Given the description of an element on the screen output the (x, y) to click on. 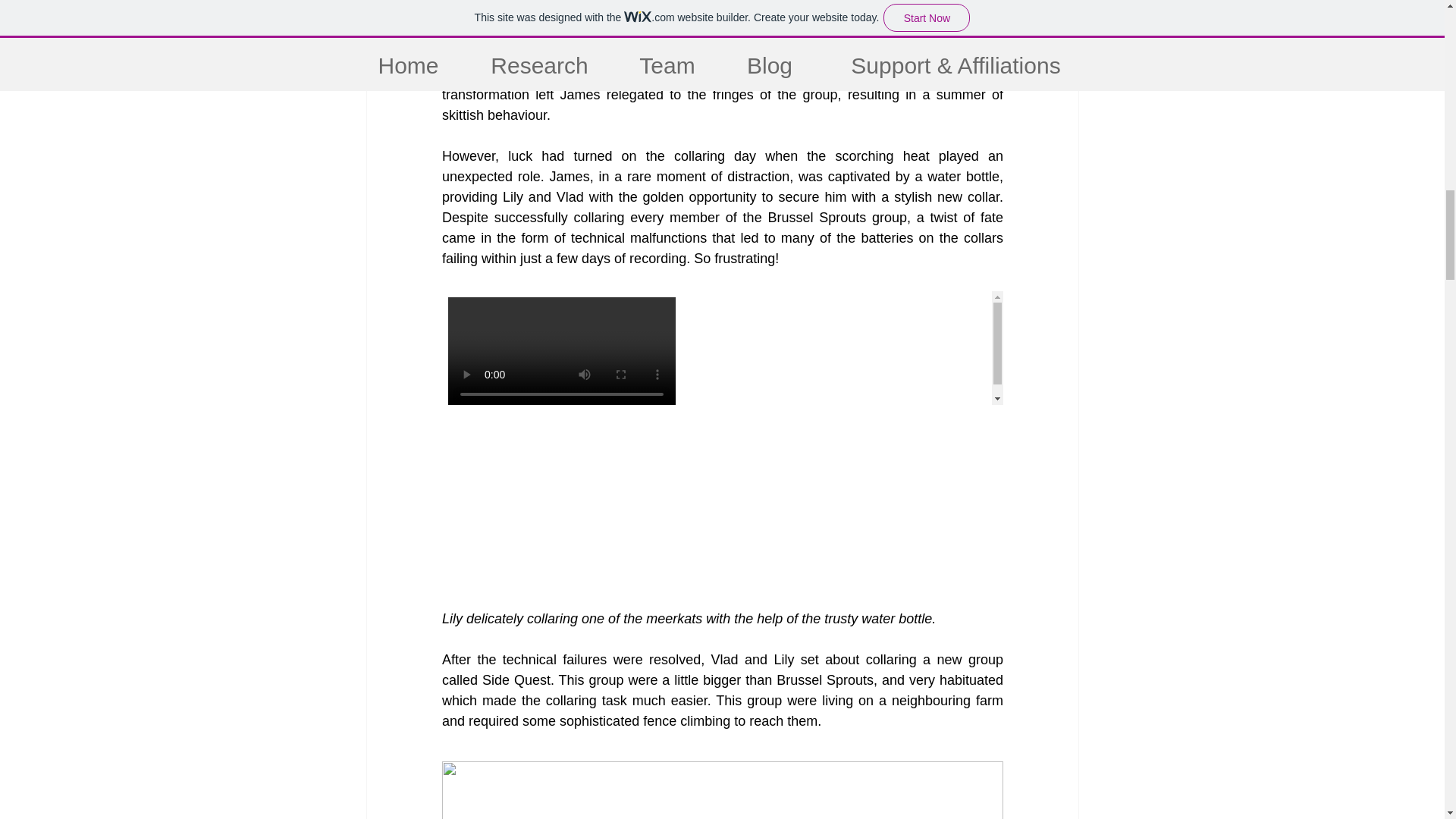
ricos-video (722, 347)
